Given the description of an element on the screen output the (x, y) to click on. 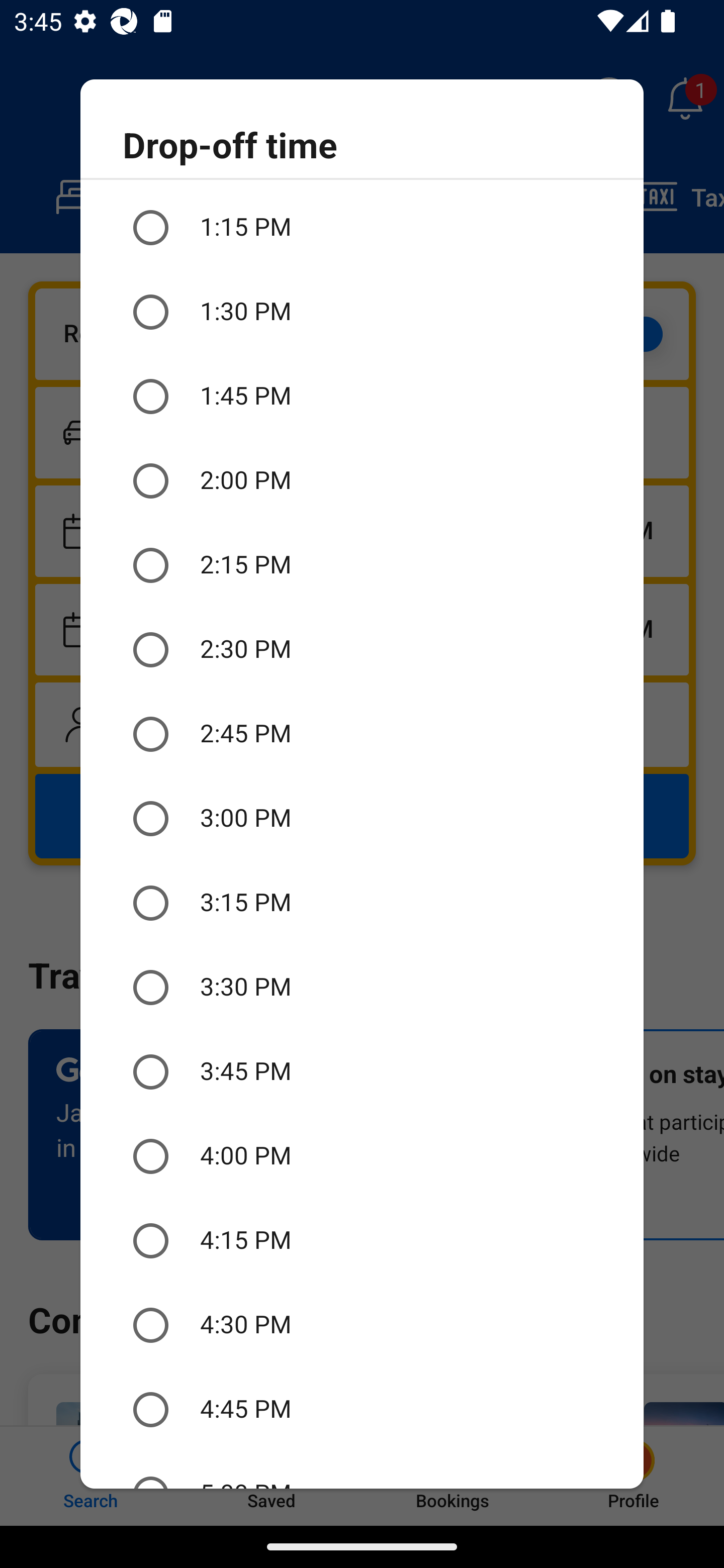
1:15 PM (361, 227)
1:30 PM (361, 311)
1:45 PM (361, 396)
2:00 PM (361, 481)
2:15 PM (361, 565)
2:30 PM (361, 649)
2:45 PM (361, 733)
3:00 PM (361, 818)
3:15 PM (361, 902)
3:30 PM (361, 987)
3:45 PM (361, 1072)
4:00 PM (361, 1155)
4:15 PM (361, 1239)
4:30 PM (361, 1324)
4:45 PM (361, 1409)
